Given the description of an element on the screen output the (x, y) to click on. 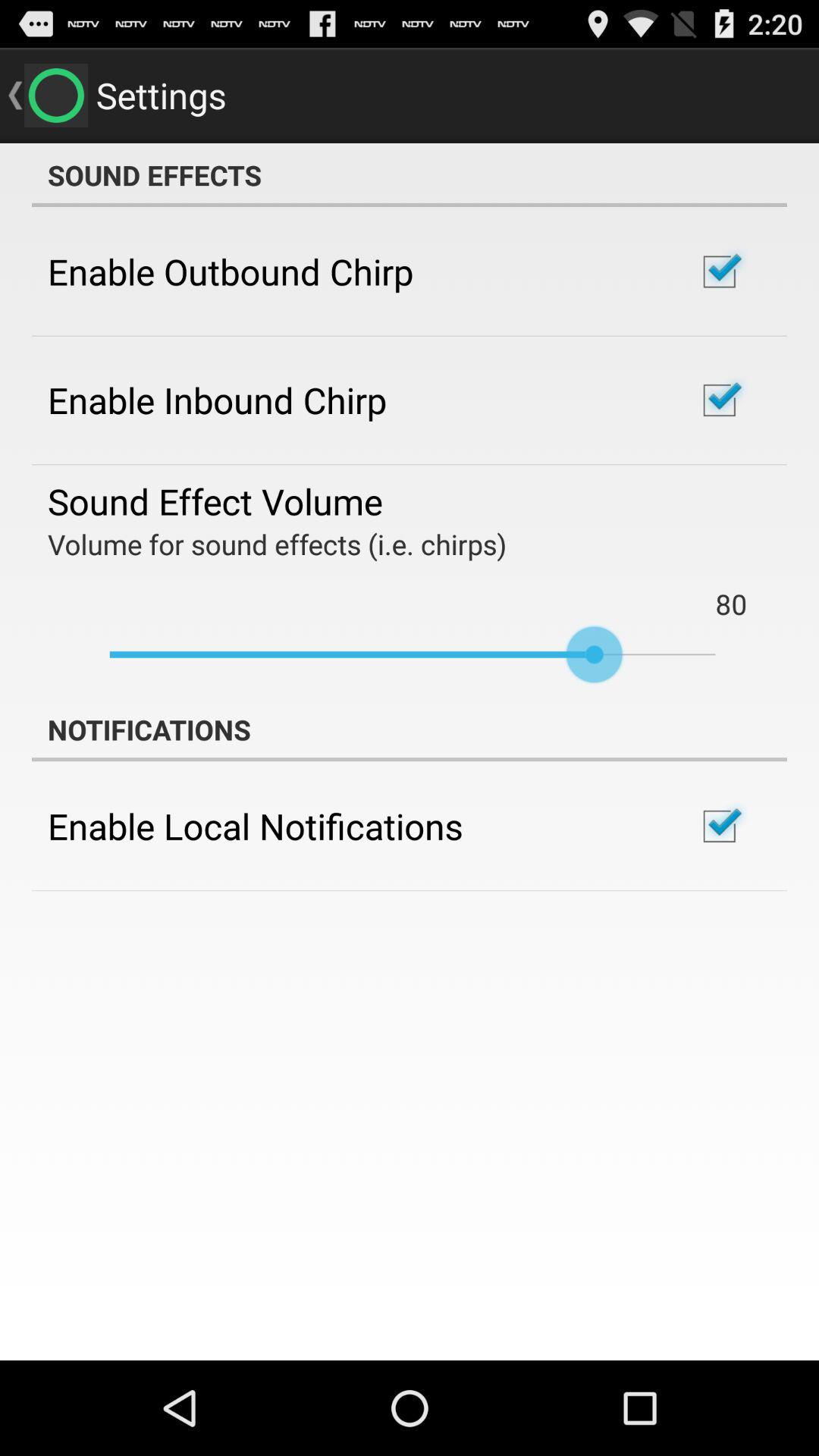
jump to enable local notifications icon (254, 825)
